Given the description of an element on the screen output the (x, y) to click on. 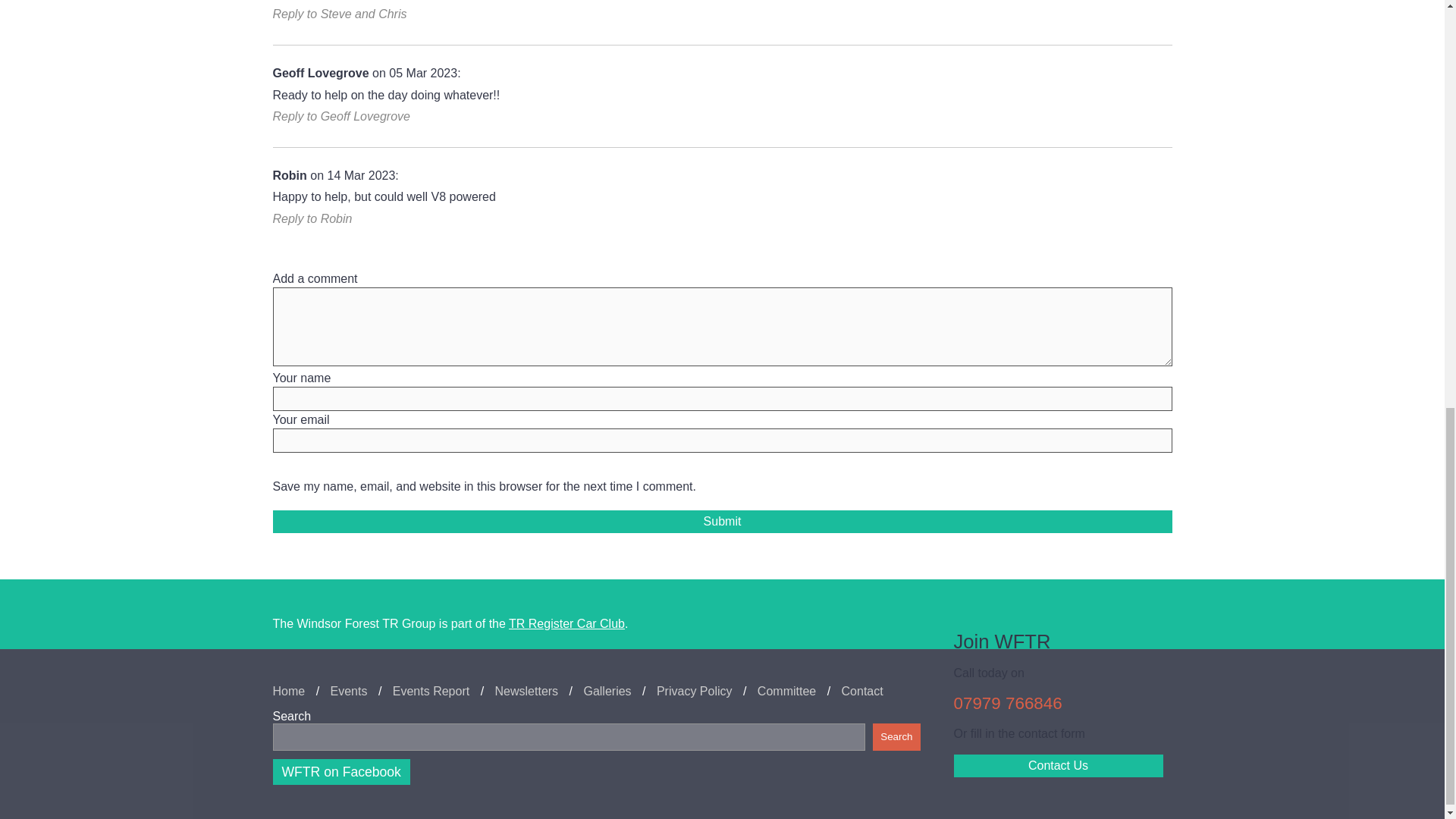
Privacy Policy (694, 691)
07979 766846 (1007, 702)
Galleries (606, 691)
Submit (722, 521)
Submit (722, 521)
Contact (862, 691)
Search (896, 737)
TR Register Car Club (566, 623)
Contact Us (1058, 765)
